Given the description of an element on the screen output the (x, y) to click on. 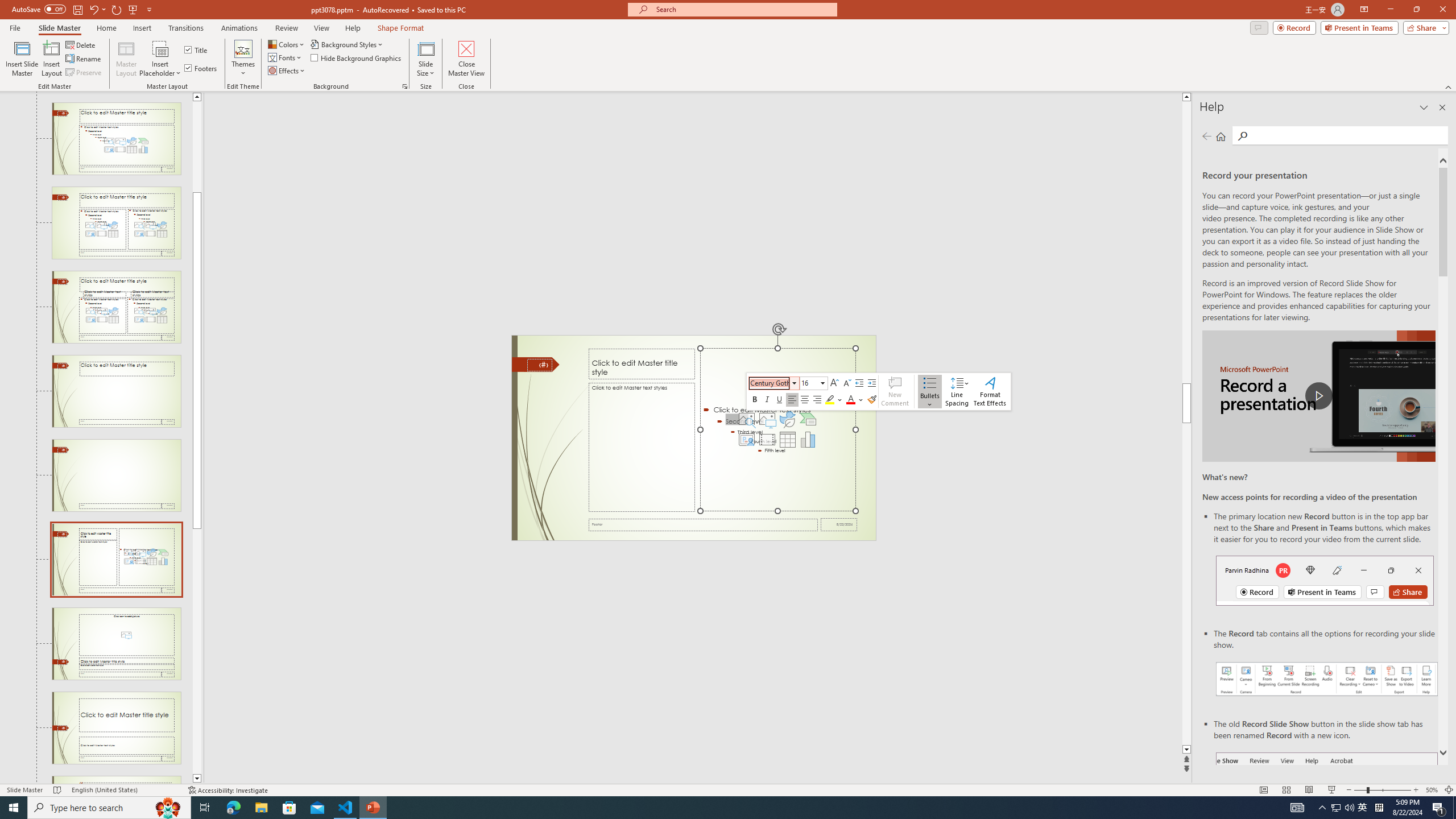
Slide Title and Content Layout: used by no slides (116, 138)
Content (160, 48)
Master Layout... (126, 58)
Format Text Effects... (990, 391)
Insert Placeholder (160, 58)
Insert Slide Master (21, 58)
